Given the description of an element on the screen output the (x, y) to click on. 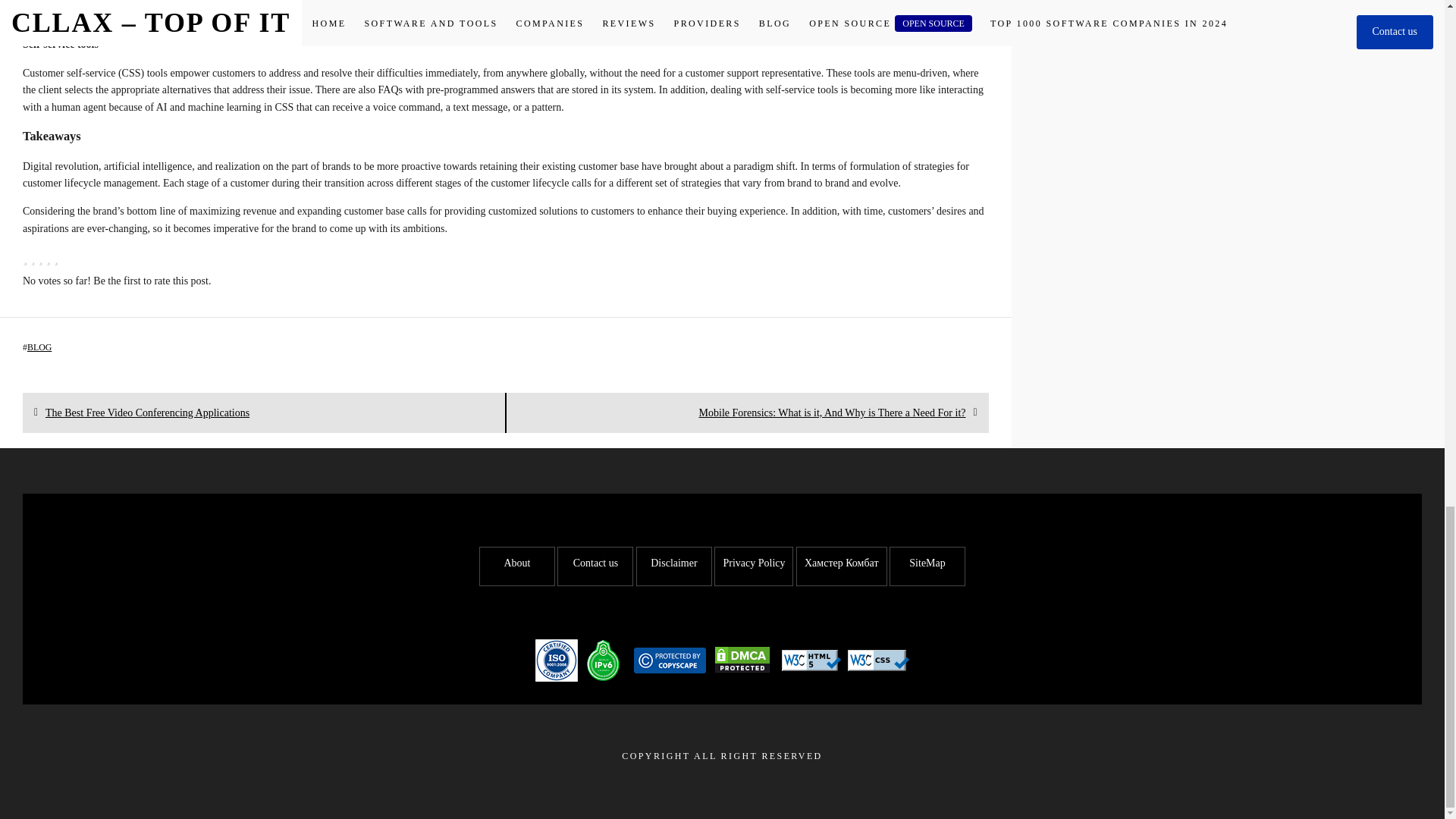
About (146, 412)
BLOG (517, 563)
